Given the description of an element on the screen output the (x, y) to click on. 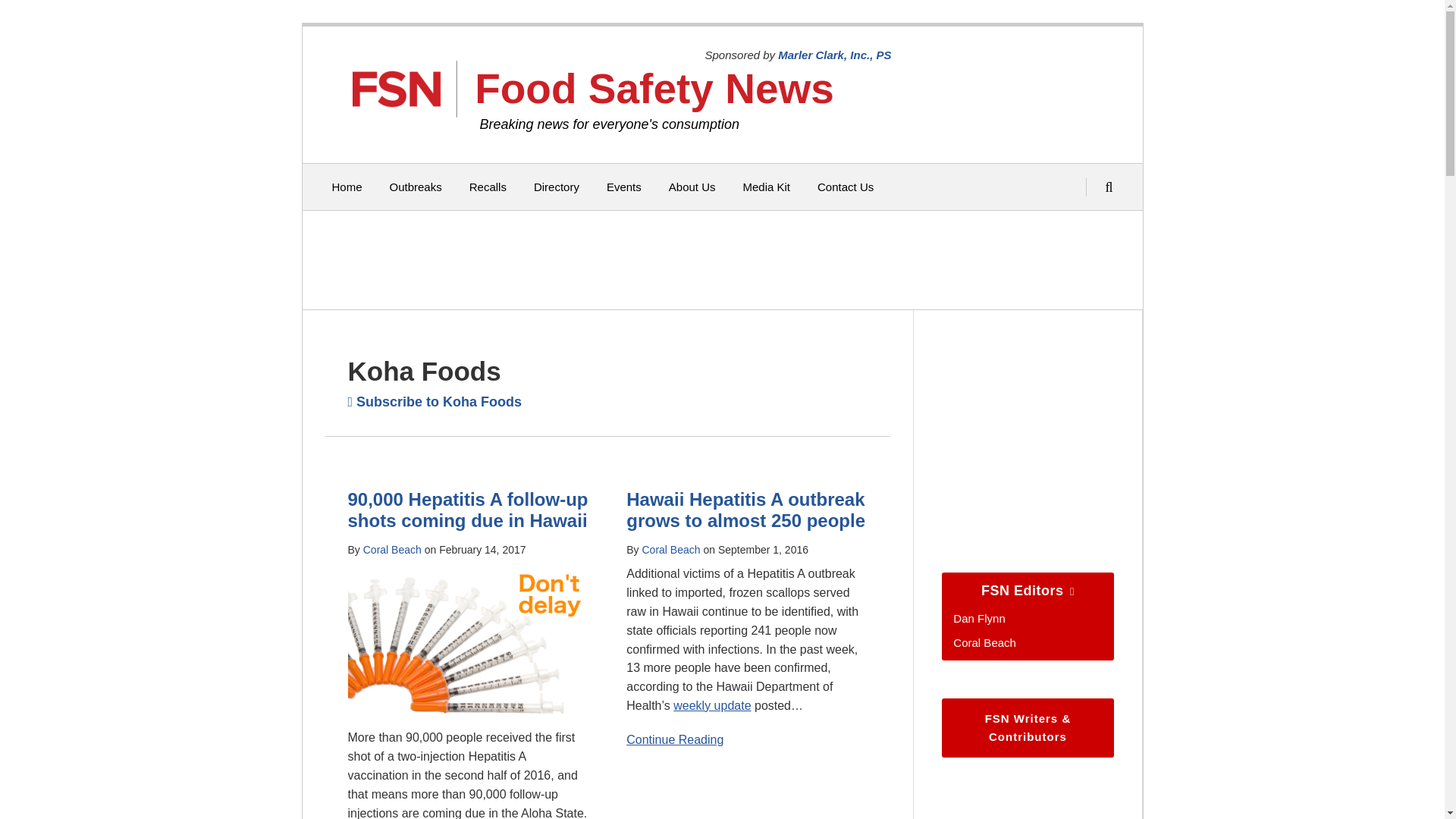
Food Safety News (654, 88)
Outbreaks (416, 187)
Directory (556, 187)
Coral Beach (671, 549)
Events (624, 187)
Home (346, 187)
Contact Us (844, 187)
weekly update (711, 705)
Recalls (487, 187)
